Given the description of an element on the screen output the (x, y) to click on. 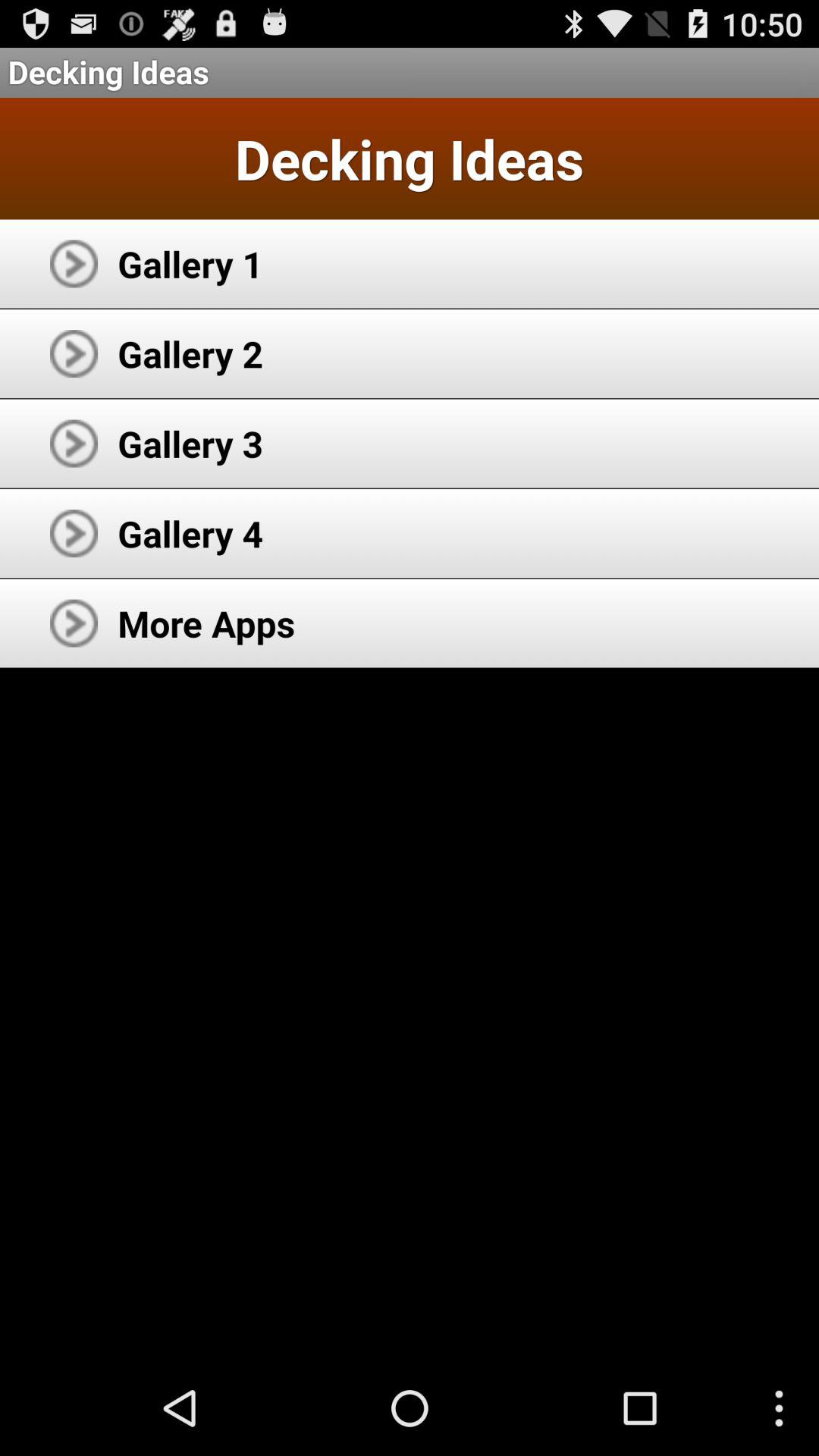
turn on gallery 4 item (190, 533)
